Given the description of an element on the screen output the (x, y) to click on. 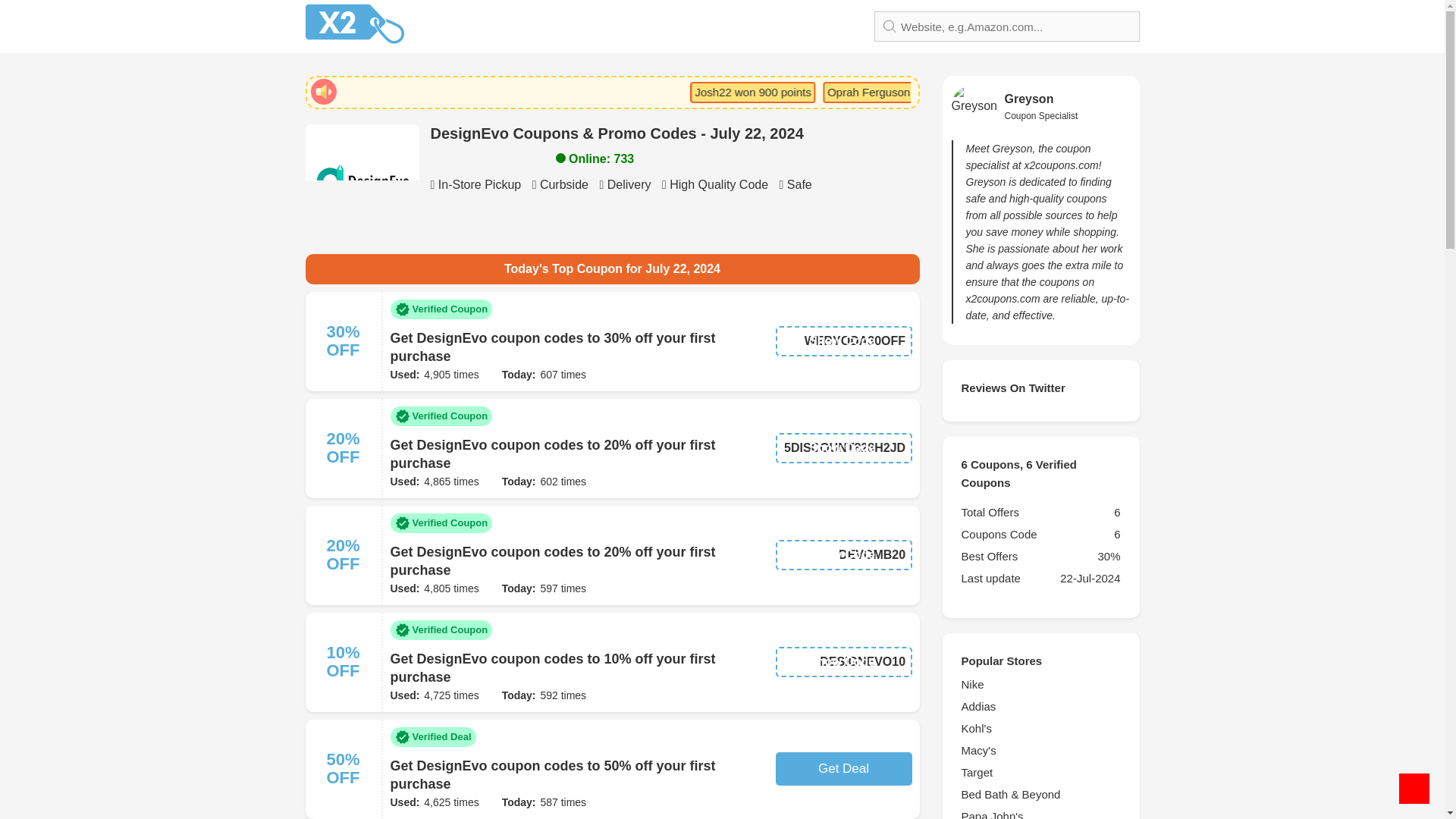
Macy's (1040, 751)
Addias (1040, 706)
Target (1040, 772)
Kohl's (1040, 728)
Papa John's (1040, 813)
Nike (1040, 684)
